Given the description of an element on the screen output the (x, y) to click on. 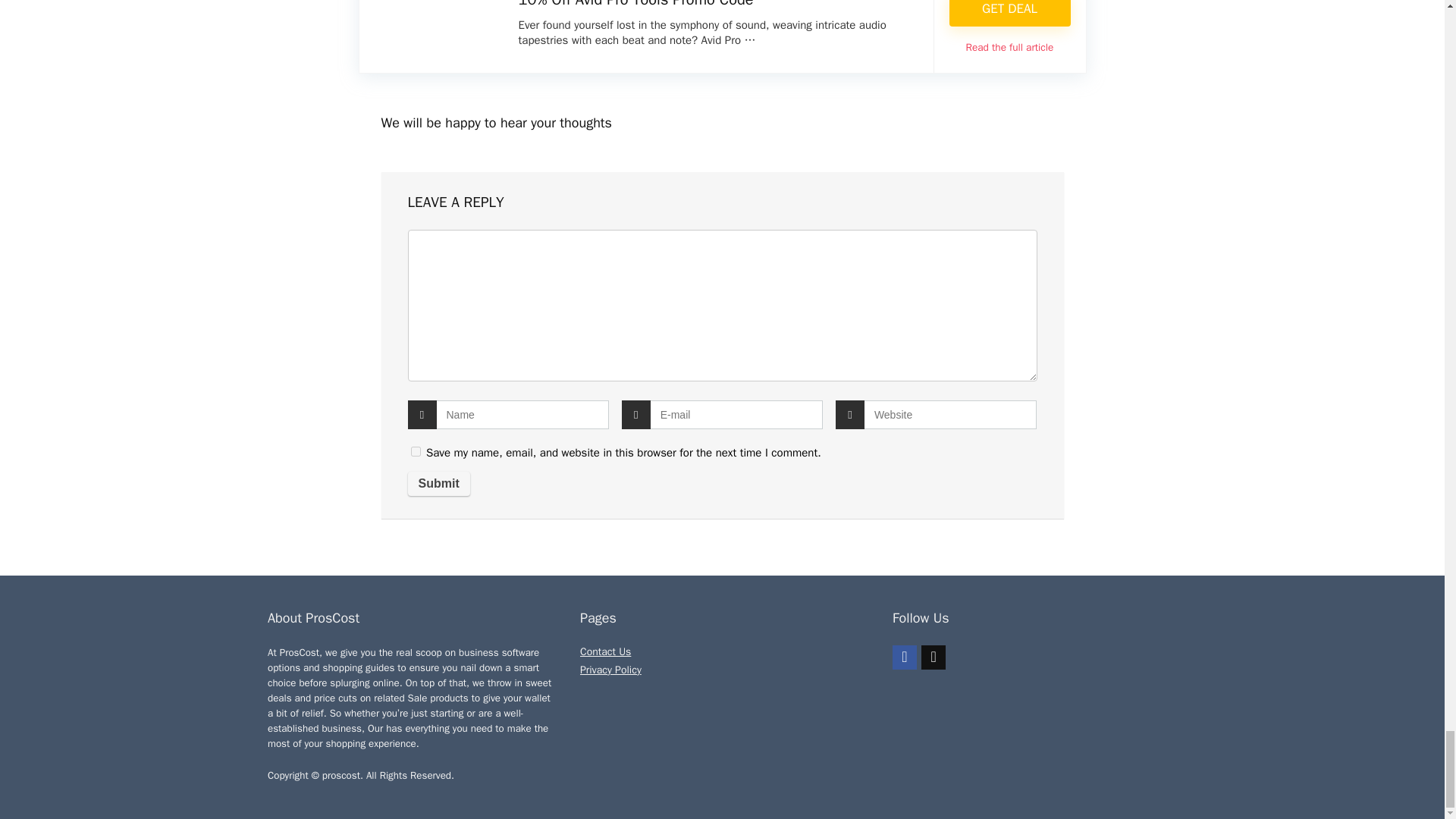
GET DEAL (1009, 13)
Facebook (904, 657)
twitter (932, 657)
Contact Us (604, 651)
yes (415, 451)
Submit (438, 482)
Read the full article (1010, 47)
Privacy Policy (610, 669)
Submit (438, 482)
